Given the description of an element on the screen output the (x, y) to click on. 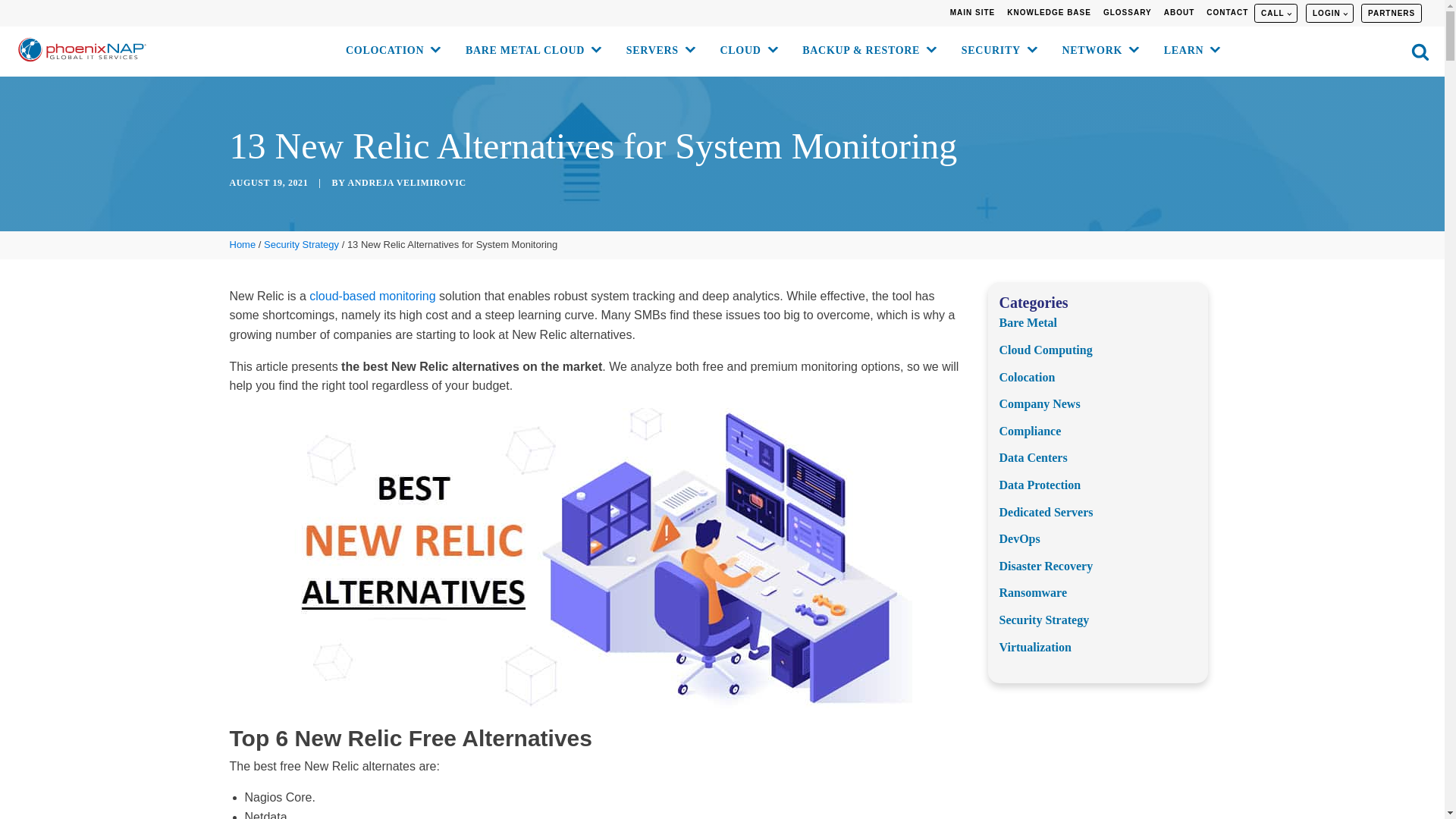
LOGIN (1329, 13)
ABOUT (1179, 13)
MAIN SITE (972, 13)
BARE METAL CLOUD (530, 51)
GLOSSARY (1127, 13)
PARTNERS (1391, 13)
CALL (1276, 13)
CONTACT (1226, 13)
COLOCATION (389, 51)
KNOWLEDGE BASE (1049, 13)
